Given the description of an element on the screen output the (x, y) to click on. 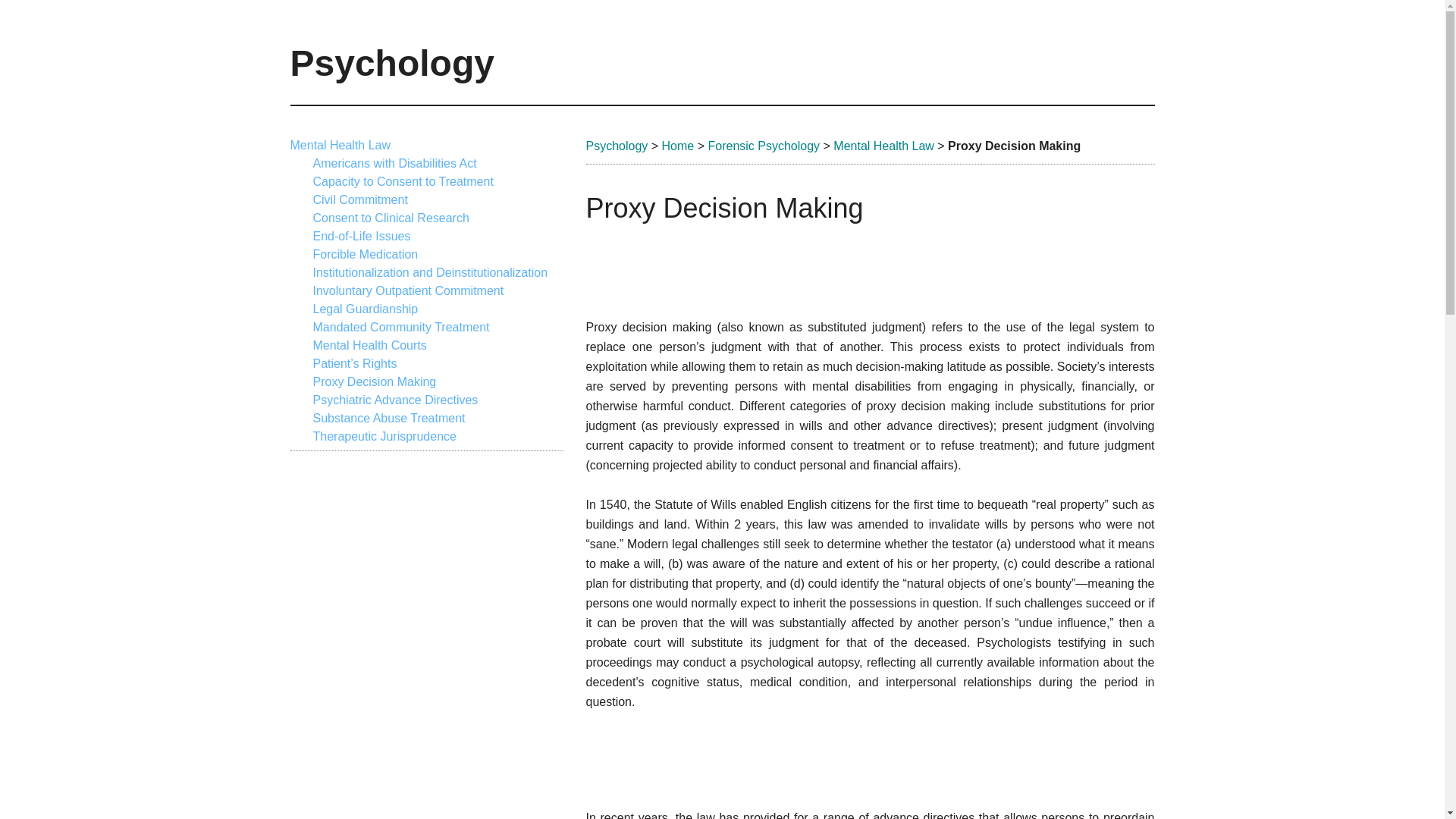
Civil Commitment (360, 199)
Substance Abuse Treatment (388, 418)
Legal Guardianship (365, 308)
Psychology (616, 145)
Home (678, 145)
Capacity to Consent to Treatment (403, 181)
Institutionalization and Deinstitutionalization (430, 272)
Americans with Disabilities Act (394, 163)
Psychology (391, 63)
